Given the description of an element on the screen output the (x, y) to click on. 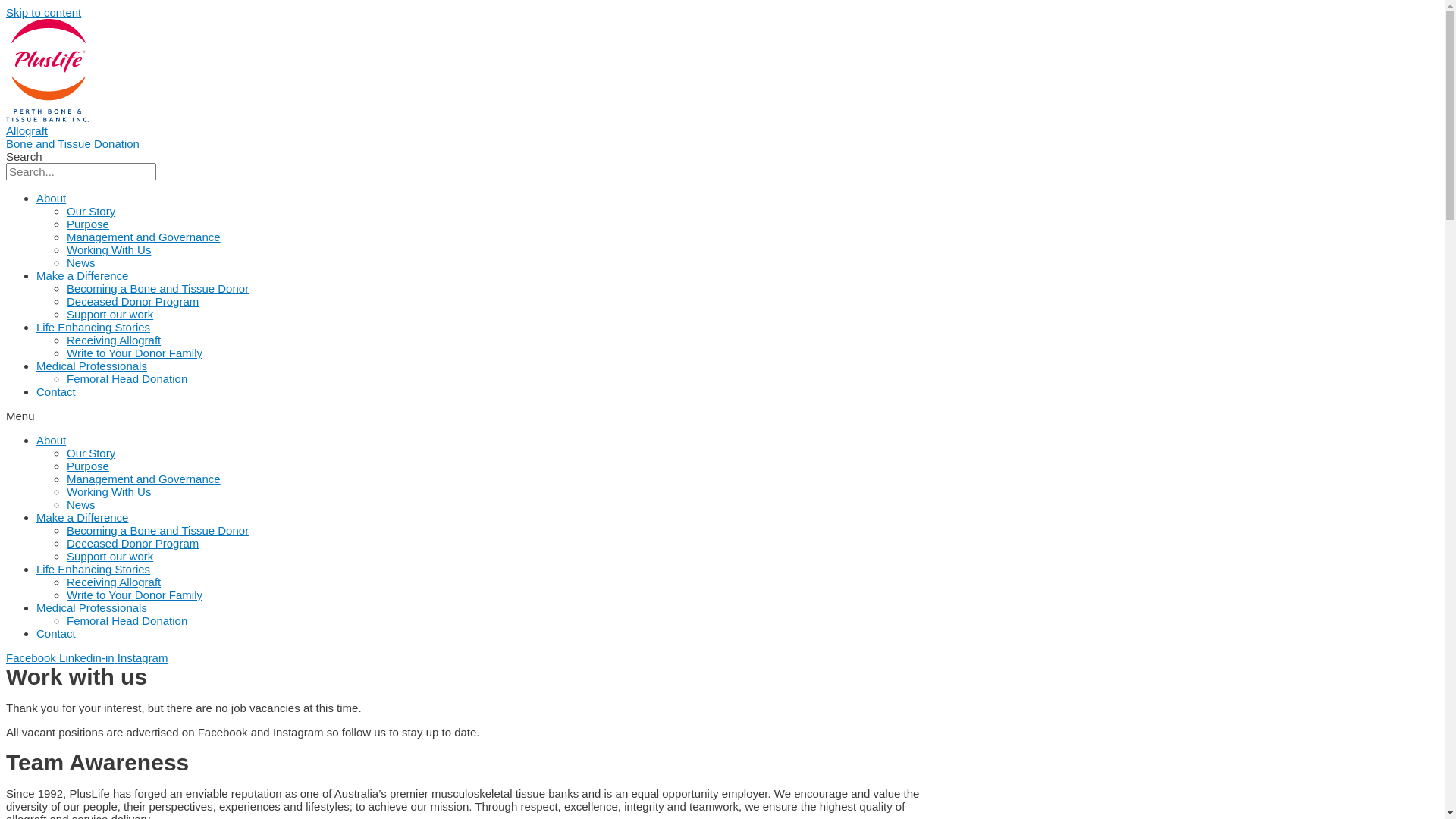
Search Element type: hover (81, 171)
Support our work Element type: text (109, 313)
Life Enhancing Stories Element type: text (93, 326)
Management and Governance Element type: text (143, 478)
Deceased Donor Program Element type: text (132, 300)
Becoming a Bone and Tissue Donor Element type: text (157, 288)
Our Story Element type: text (90, 210)
Linkedin-in Element type: text (88, 657)
Write to Your Donor Family Element type: text (134, 352)
News Element type: text (80, 504)
Receiving Allograft Element type: text (113, 581)
Facebook Element type: text (32, 657)
Femoral Head Donation Element type: text (126, 378)
Allograft Element type: text (26, 130)
Contact Element type: text (55, 391)
Medical Professionals Element type: text (91, 365)
Becoming a Bone and Tissue Donor Element type: text (157, 530)
About Element type: text (50, 197)
Life Enhancing Stories Element type: text (93, 568)
News Element type: text (80, 262)
Working With Us Element type: text (108, 491)
Skip to content Element type: text (43, 12)
Receiving Allograft Element type: text (113, 339)
Support our work Element type: text (109, 555)
About Element type: text (50, 439)
Management and Governance Element type: text (143, 236)
Bone and Tissue Donation Element type: text (72, 143)
Working With Us Element type: text (108, 249)
Purpose Element type: text (87, 465)
Write to Your Donor Family Element type: text (134, 594)
Medical Professionals Element type: text (91, 607)
Deceased Donor Program Element type: text (132, 542)
Make a Difference Element type: text (82, 517)
Purpose Element type: text (87, 223)
Instagram Element type: text (142, 657)
Femoral Head Donation Element type: text (126, 620)
Make a Difference Element type: text (82, 275)
Contact Element type: text (55, 633)
Our Story Element type: text (90, 452)
